Given the description of an element on the screen output the (x, y) to click on. 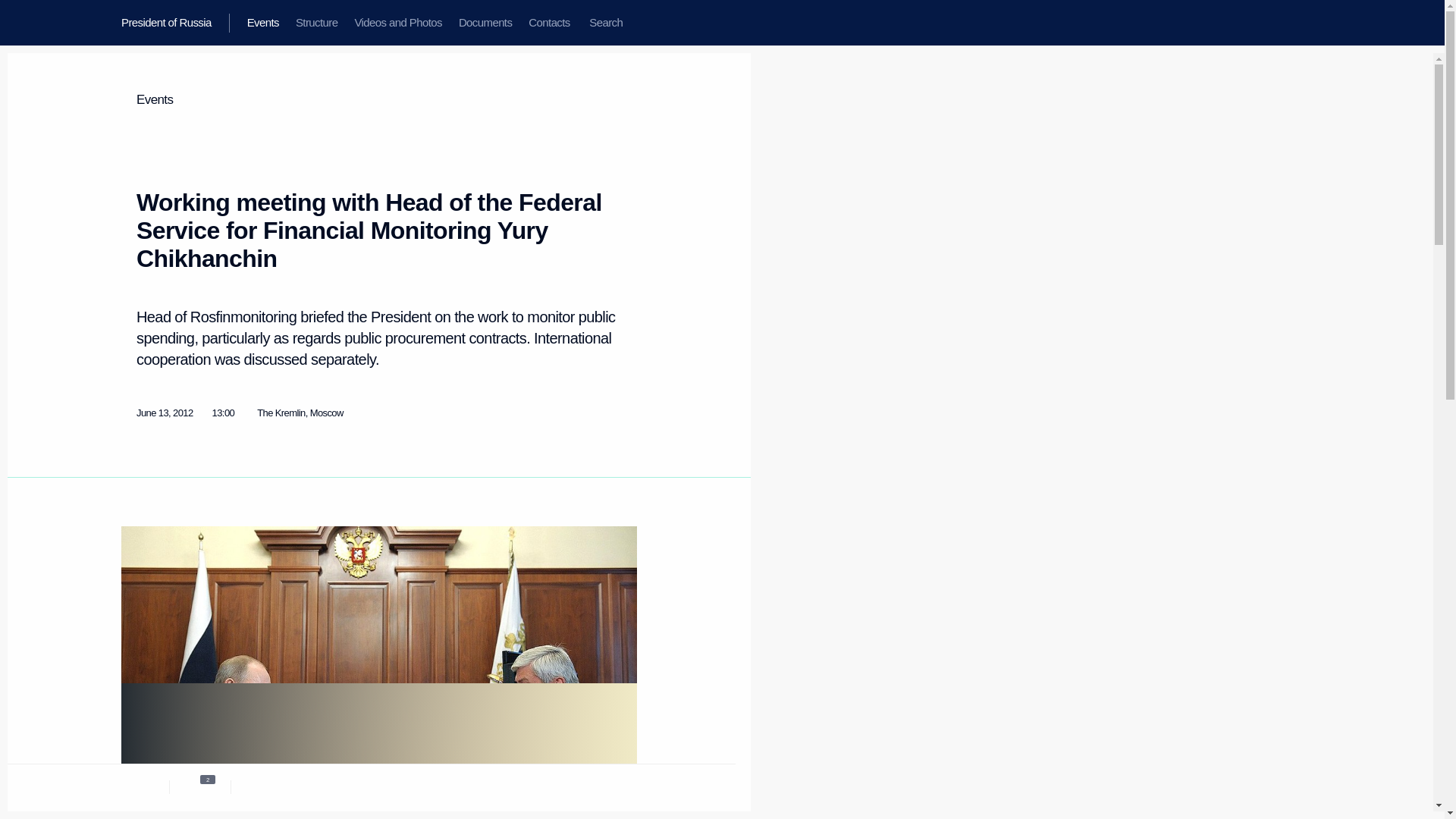
Photo (200, 786)
President of Russia (175, 22)
Contacts (548, 22)
Video (261, 786)
Share (593, 784)
Search (605, 22)
Global website search (605, 22)
Events (262, 22)
Structure (316, 22)
